Given the description of an element on the screen output the (x, y) to click on. 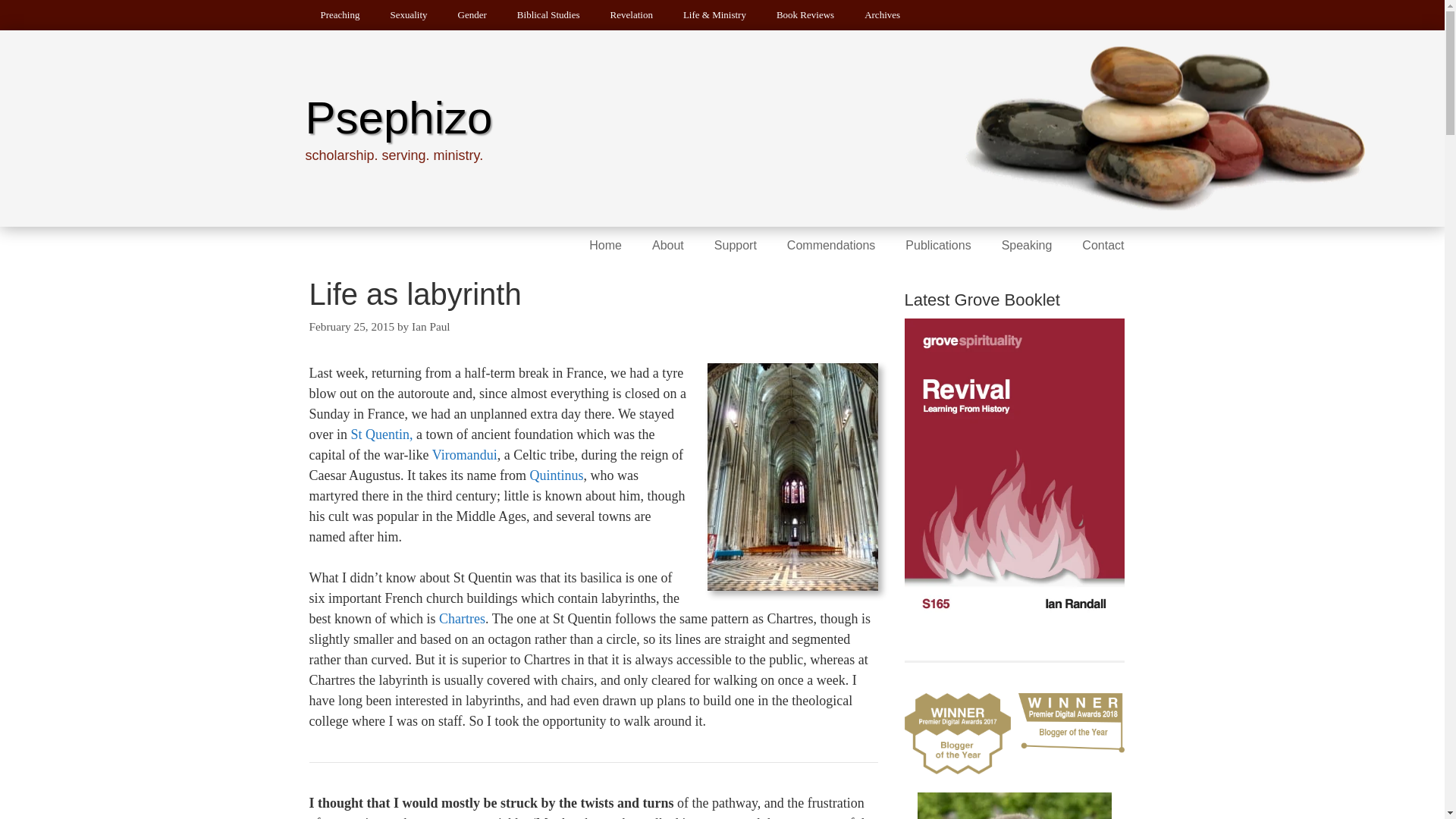
Gender (472, 15)
Commendations (831, 245)
Publications (937, 245)
Archives (881, 15)
View all posts by Ian Paul (430, 326)
St Quentin, (381, 434)
Biblical Studies (548, 15)
Psephizo (398, 117)
Take Action Now! (282, 16)
Home (605, 245)
